Given the description of an element on the screen output the (x, y) to click on. 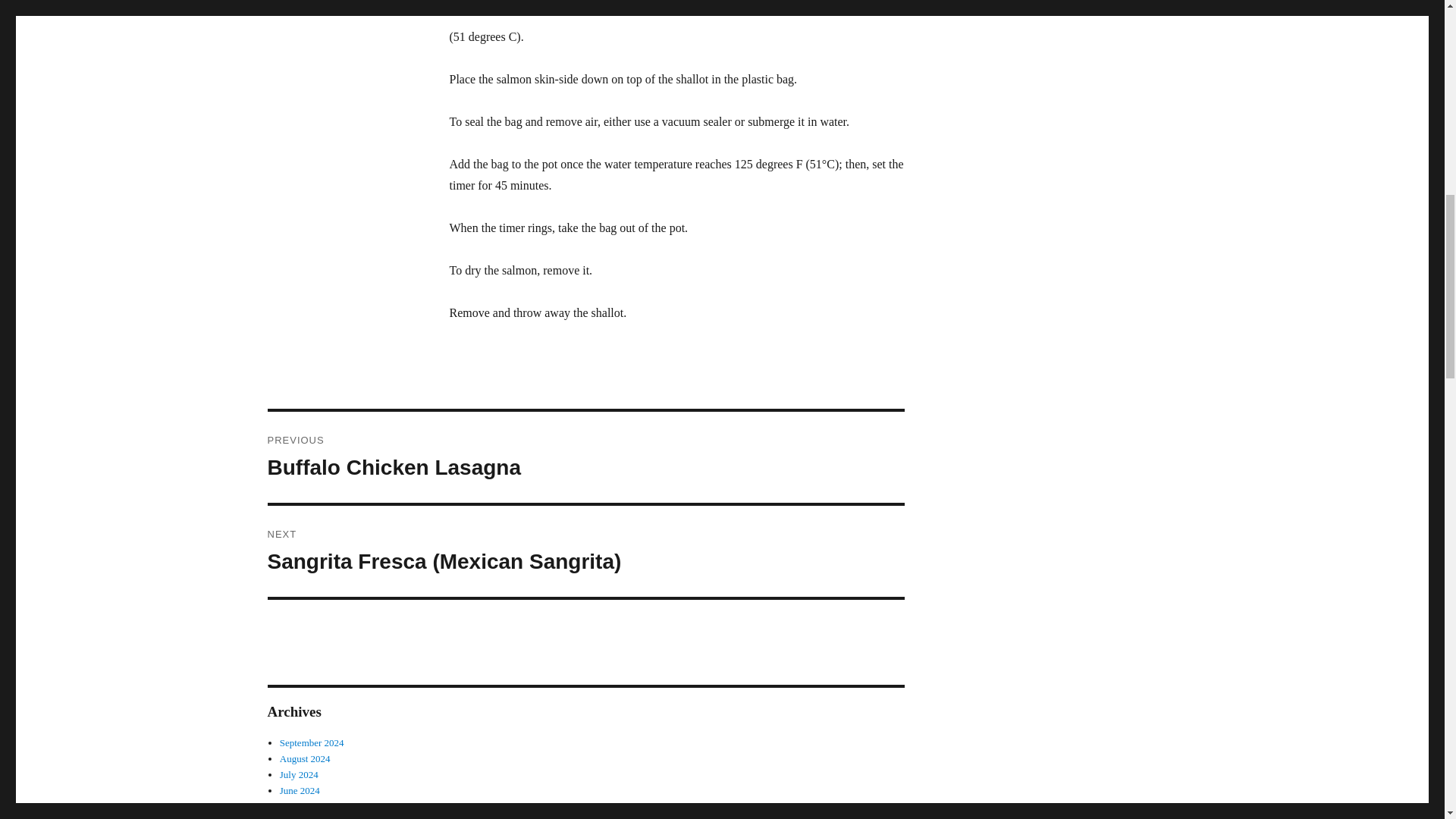
April 2024 (301, 817)
September 2024 (311, 742)
May 2024 (299, 806)
August 2024 (585, 456)
July 2024 (304, 758)
June 2024 (298, 774)
